Given the description of an element on the screen output the (x, y) to click on. 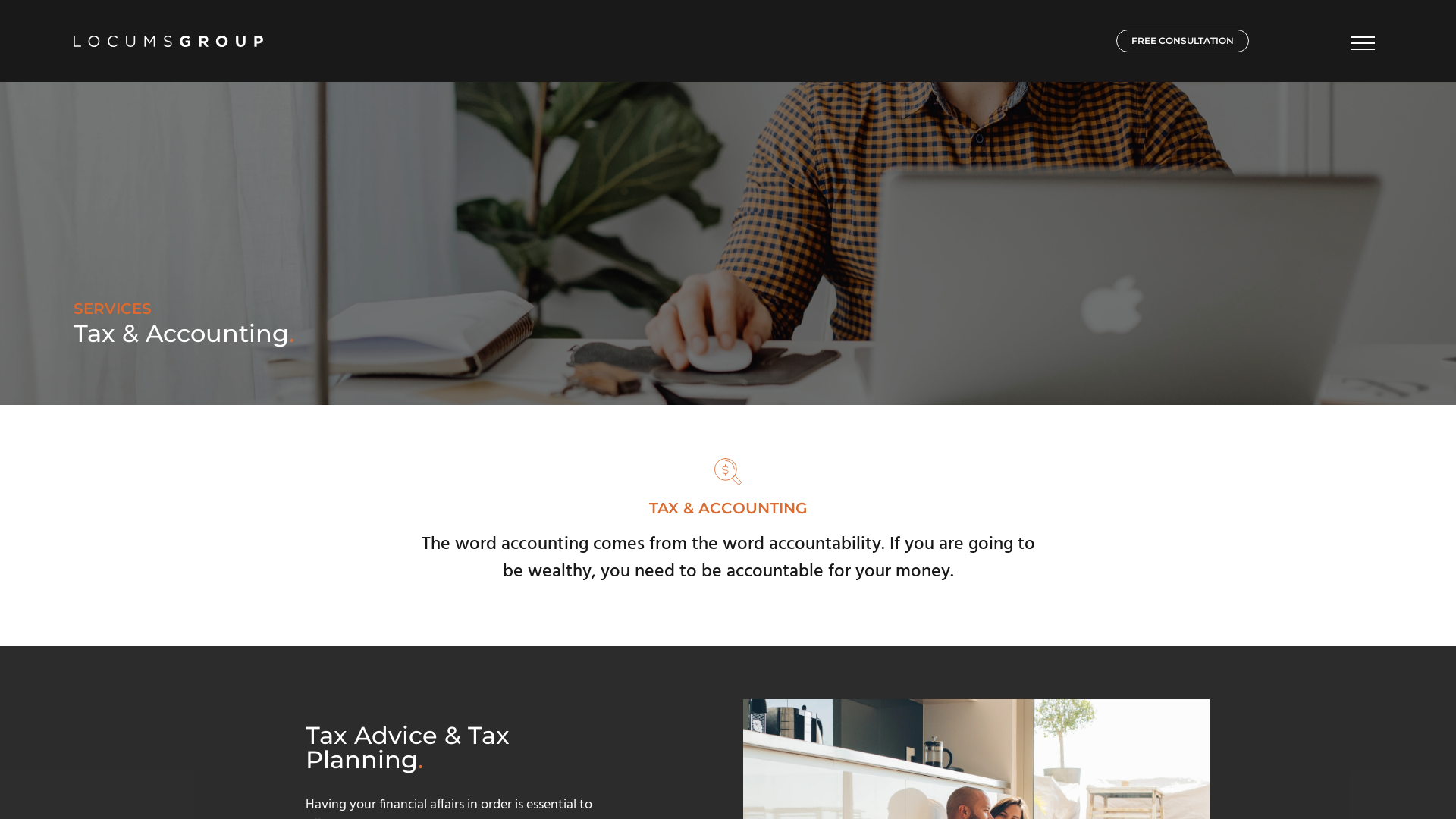
FREE CONSULTATION Element type: text (1182, 40)
